Given the description of an element on the screen output the (x, y) to click on. 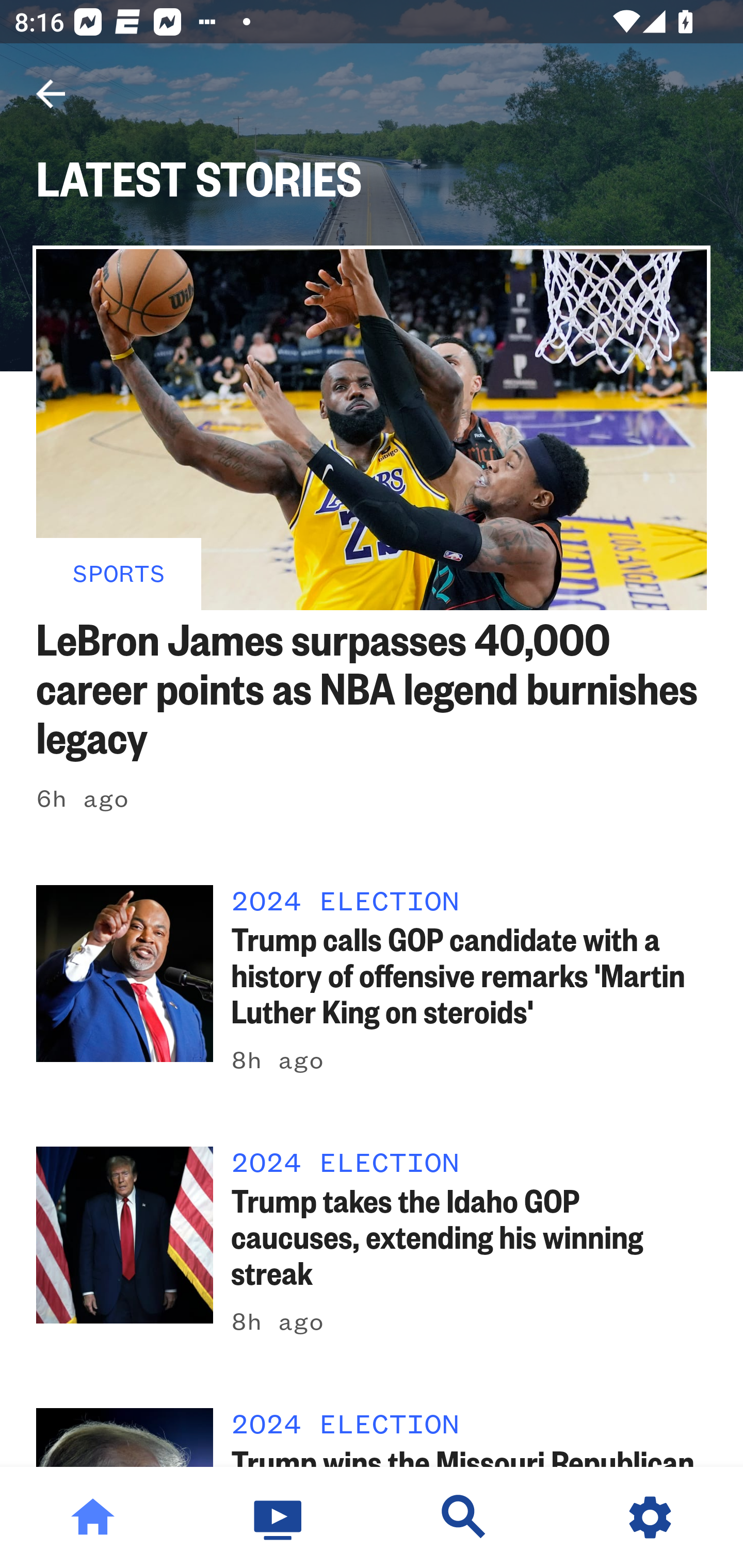
Navigate up (50, 93)
Watch (278, 1517)
Discover (464, 1517)
Settings (650, 1517)
